Given the description of an element on the screen output the (x, y) to click on. 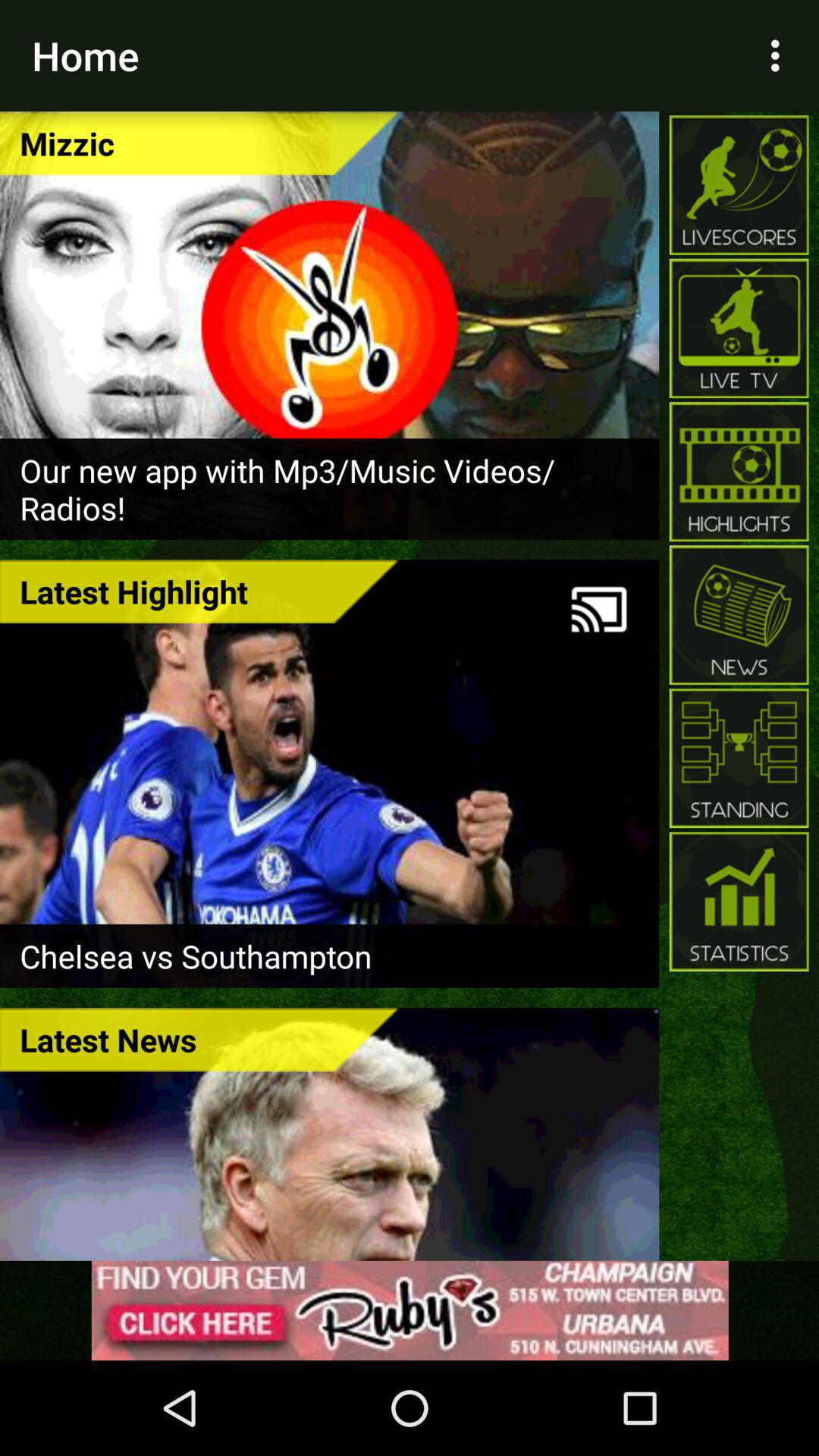
press item below the mizzic (329, 488)
